Given the description of an element on the screen output the (x, y) to click on. 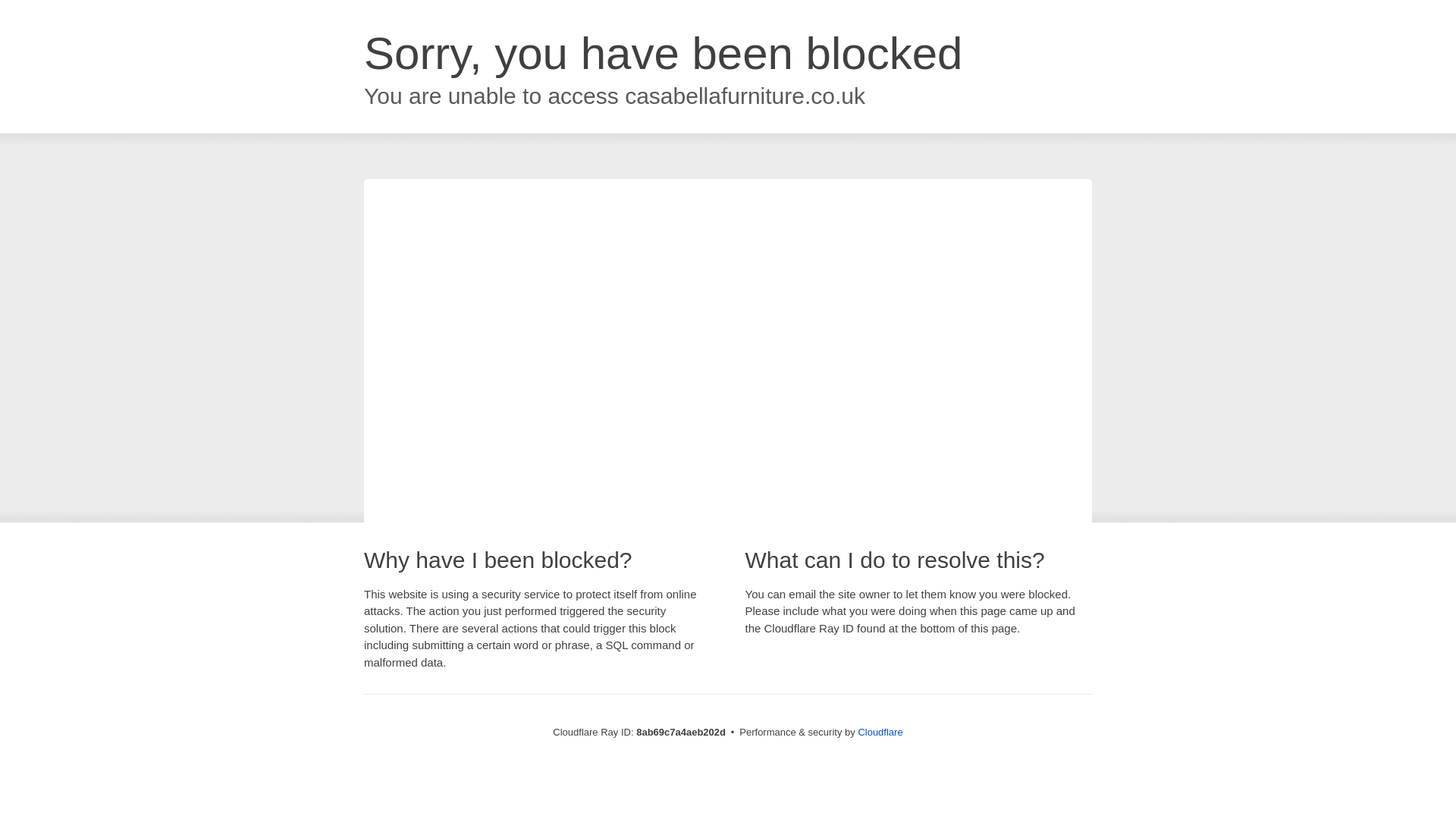
Cloudflare (879, 731)
